Given the description of an element on the screen output the (x, y) to click on. 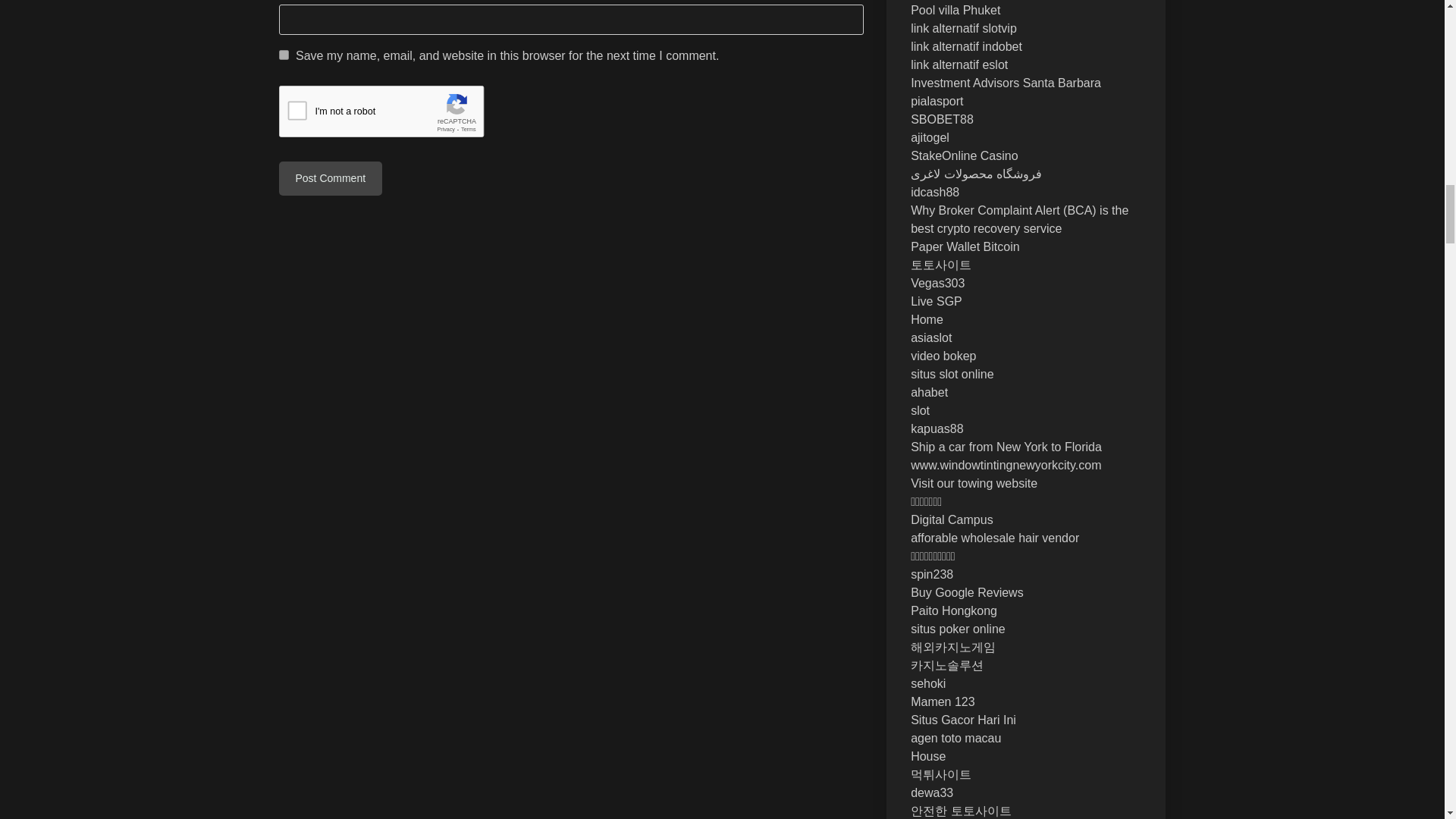
yes (283, 54)
reCAPTCHA (394, 114)
Post Comment (330, 178)
Post Comment (330, 178)
